Given the description of an element on the screen output the (x, y) to click on. 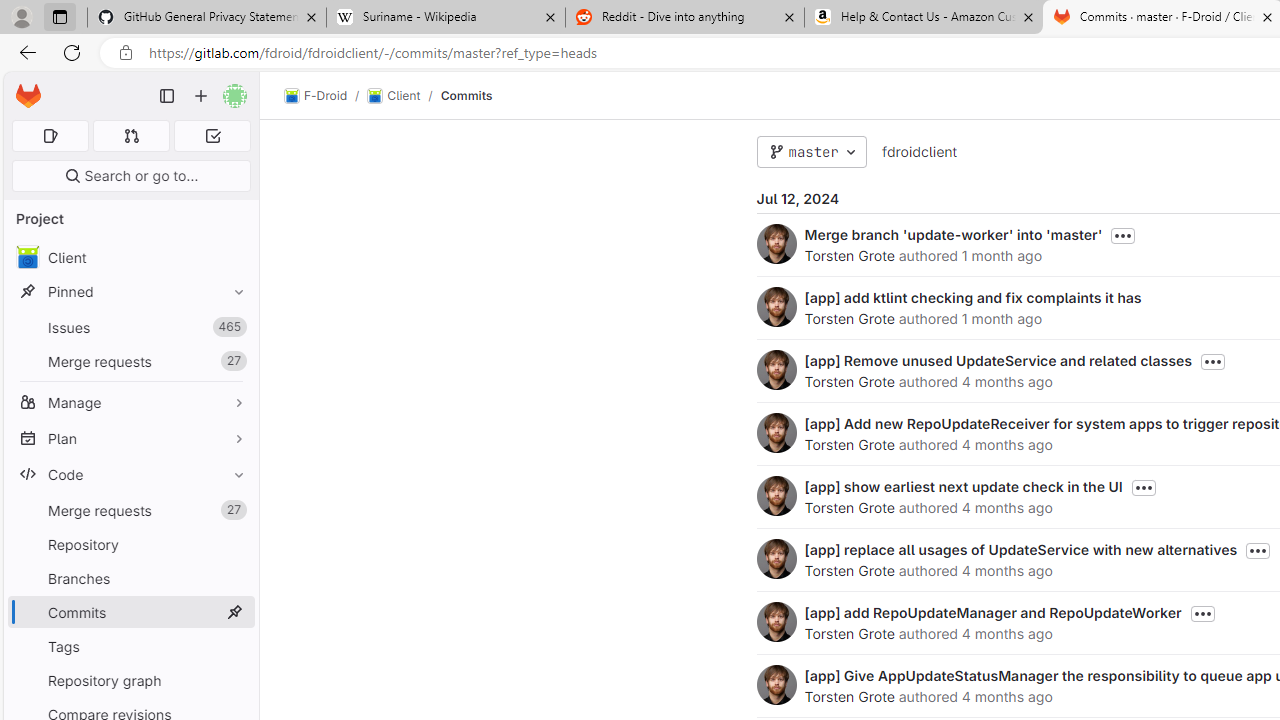
Client/ (404, 96)
Commits (466, 95)
Toggle commit description (1202, 614)
F-Droid/ (326, 96)
[app] add ktlint checking and fix complaints it has (972, 297)
Tags (130, 646)
